Given the description of an element on the screen output the (x, y) to click on. 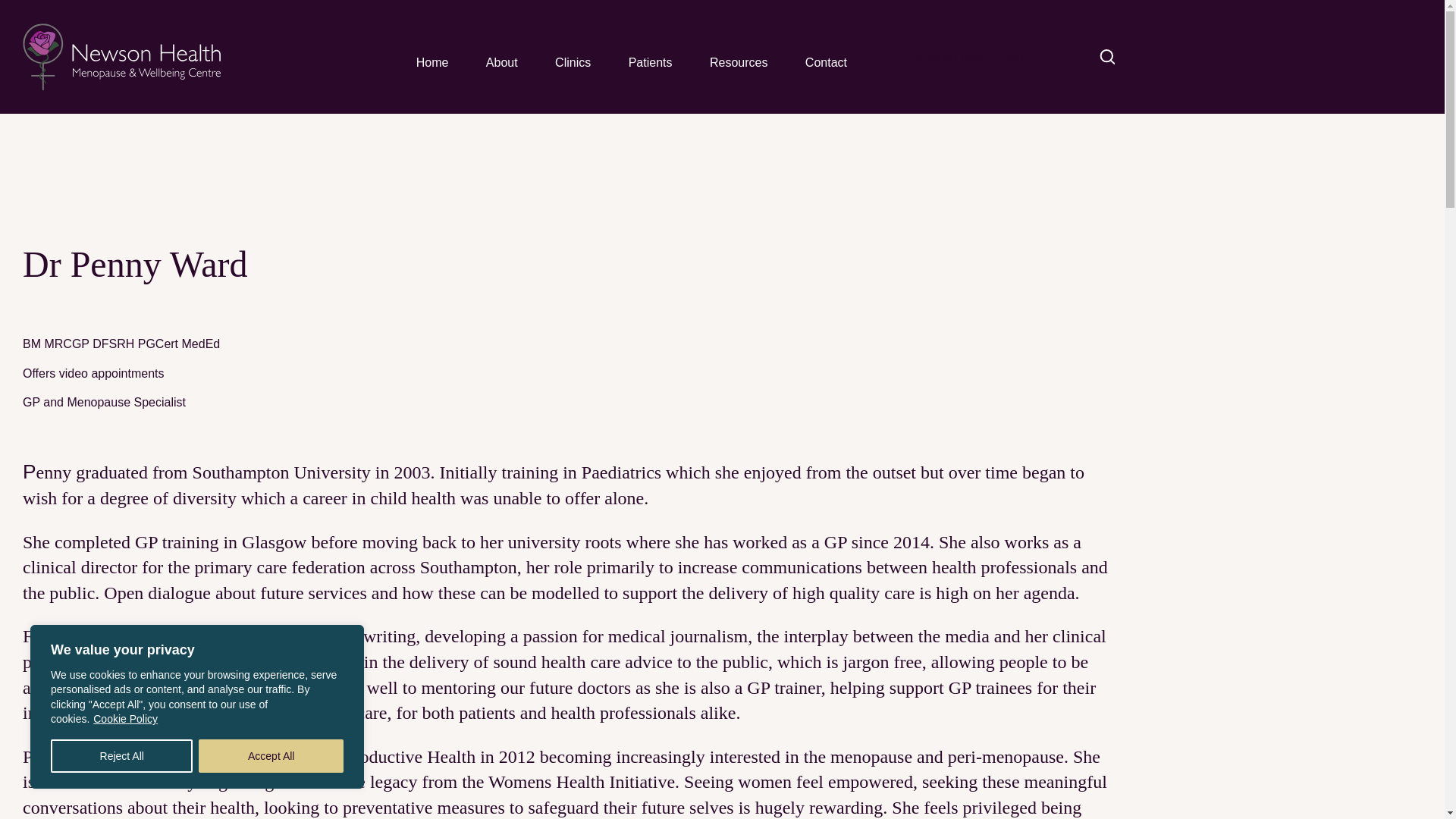
Reject All (121, 756)
Cookie Policy (125, 718)
Accept All (270, 756)
LiveChat chat widget (1409, 730)
